Given the description of an element on the screen output the (x, y) to click on. 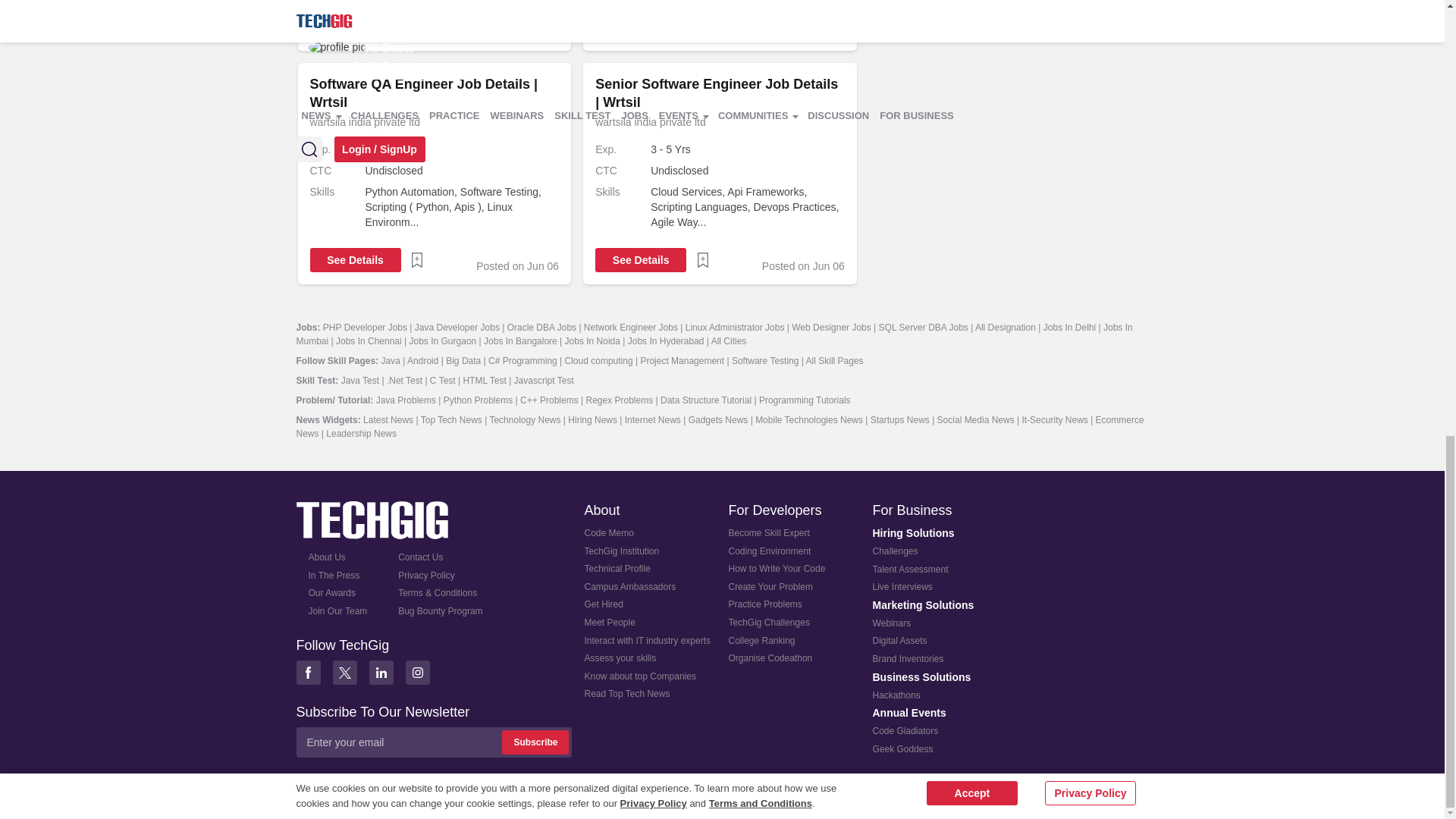
cloud services, api frameworks, scripting languages, de... (747, 207)
Subscribe (535, 742)
